Given the description of an element on the screen output the (x, y) to click on. 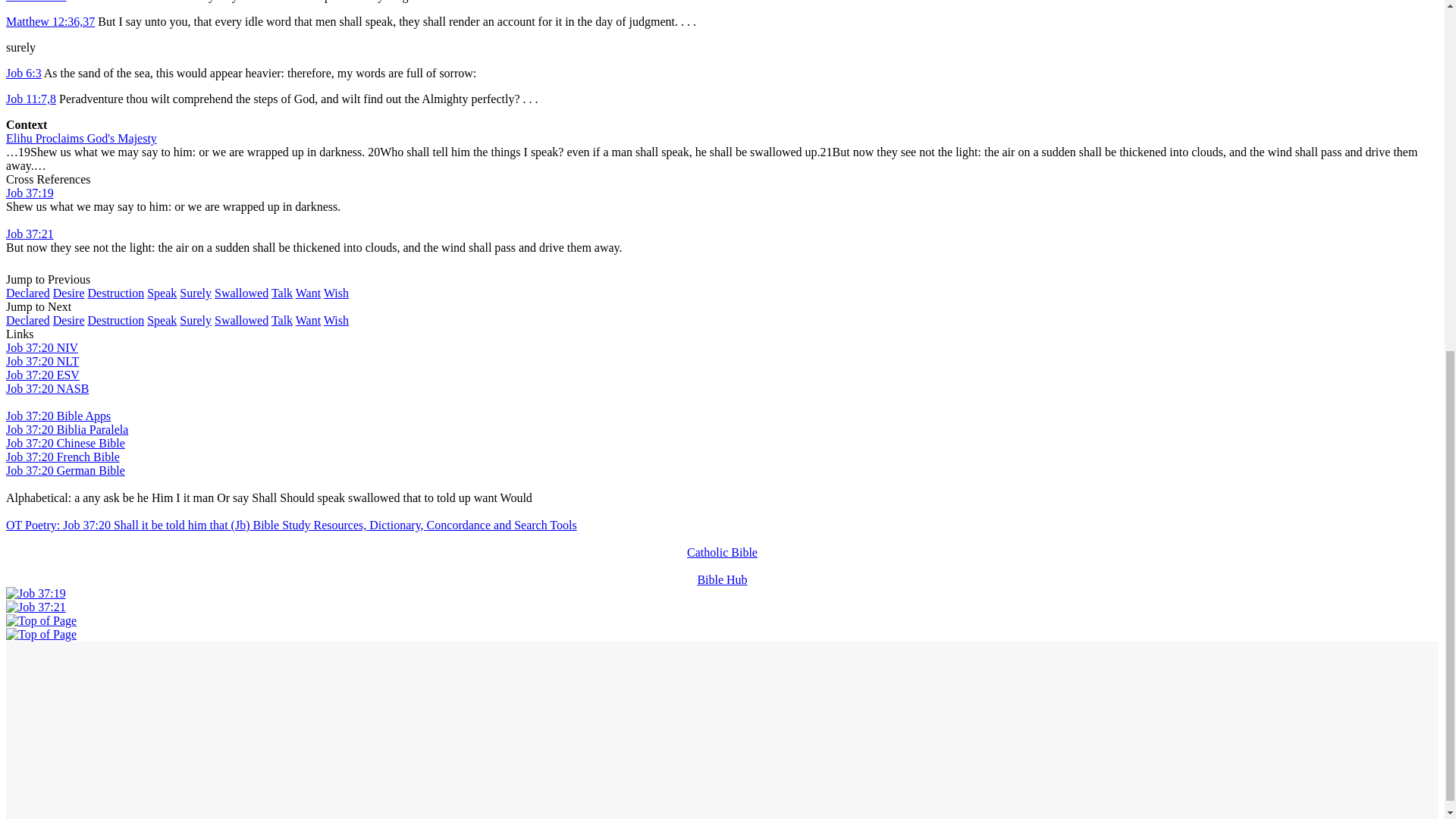
Swallowed (240, 319)
Want (307, 319)
Desire (68, 319)
Job 37:21 (29, 233)
Surely (195, 292)
Speak (161, 292)
Job 37:19 (29, 192)
Desire (68, 292)
Job 37:21 (35, 606)
Destruction (115, 292)
Want (307, 292)
Job 6:3 (23, 72)
Speak (161, 319)
Destruction (115, 319)
Wish (336, 319)
